Given the description of an element on the screen output the (x, y) to click on. 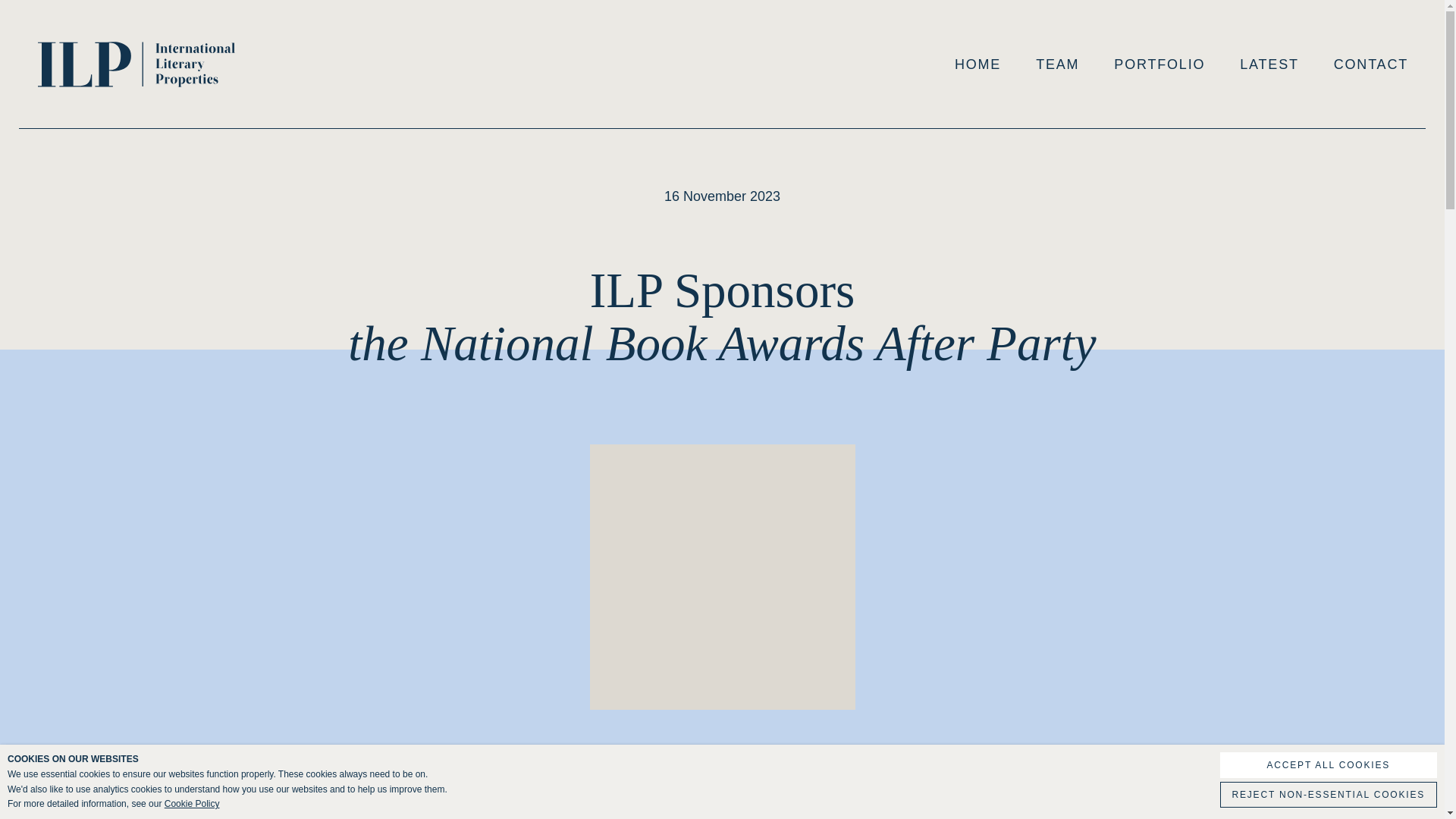
ACCEPT ALL COOKIES (1328, 765)
REJECT NON-ESSENTIAL COOKIES (1328, 794)
PORTFOLIO (1159, 64)
LATEST (1269, 64)
CONTACT (1370, 64)
HOME (978, 64)
Cookie Policy (191, 803)
TEAM (1056, 64)
